Given the description of an element on the screen output the (x, y) to click on. 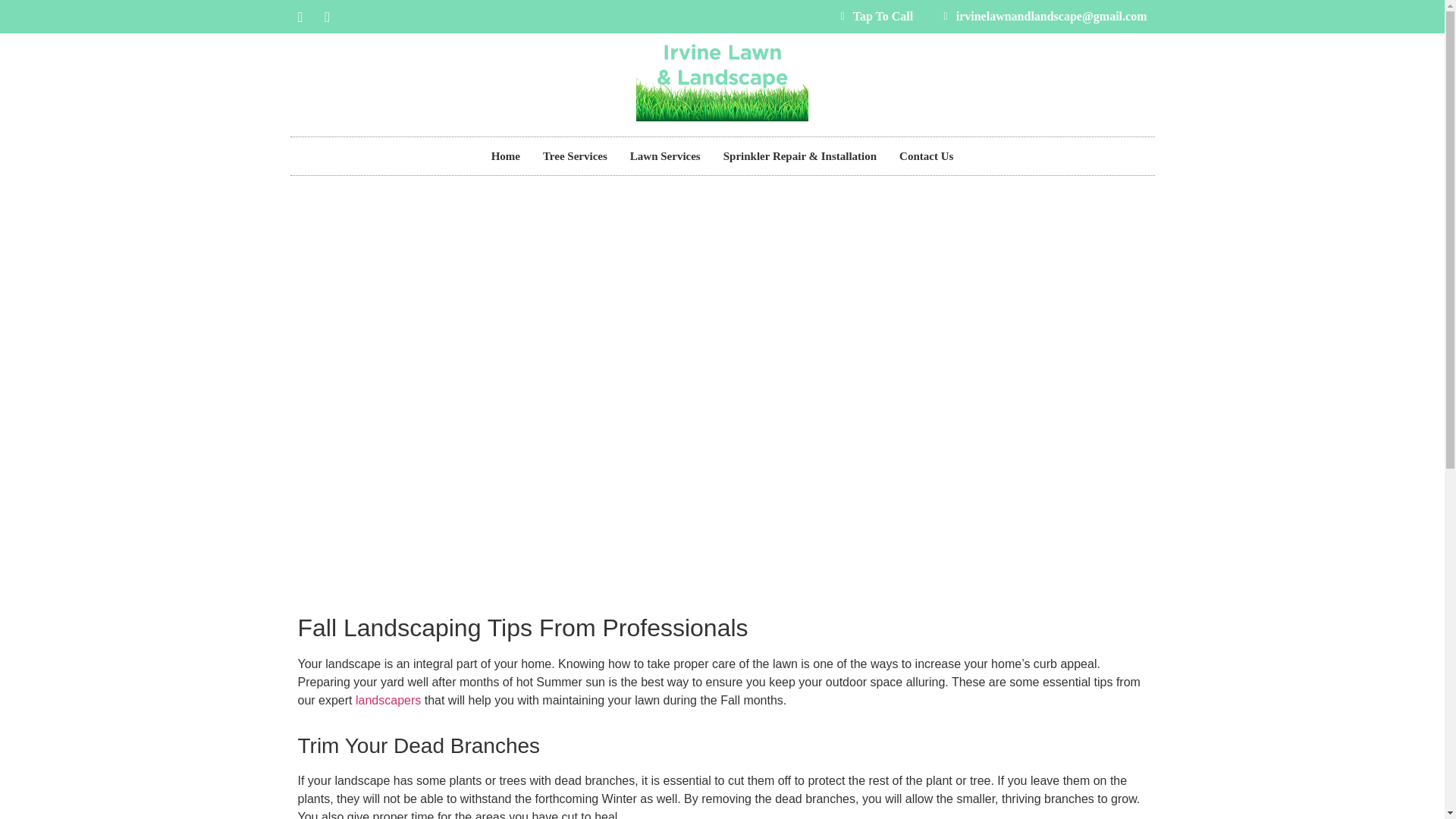
Home (505, 155)
landscapers (387, 698)
Tap To Call (871, 16)
Contact Us (925, 155)
Tree Services (574, 155)
Lawn Services (664, 155)
